Given the description of an element on the screen output the (x, y) to click on. 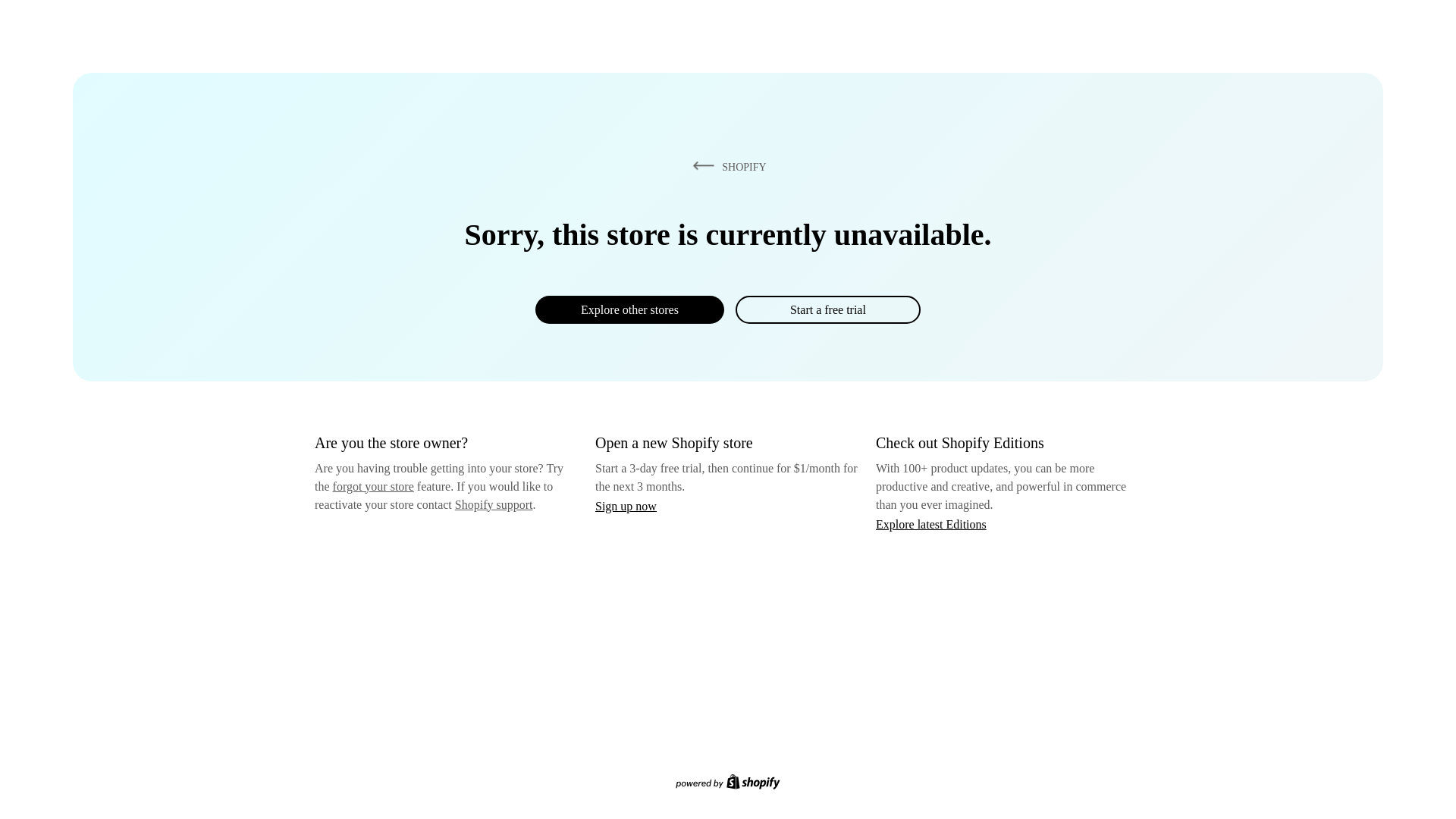
Shopify support (493, 504)
forgot your store (373, 486)
Start a free trial (827, 309)
SHOPIFY (726, 166)
Explore latest Editions (931, 523)
Explore other stores (629, 309)
Sign up now (625, 505)
